Given the description of an element on the screen output the (x, y) to click on. 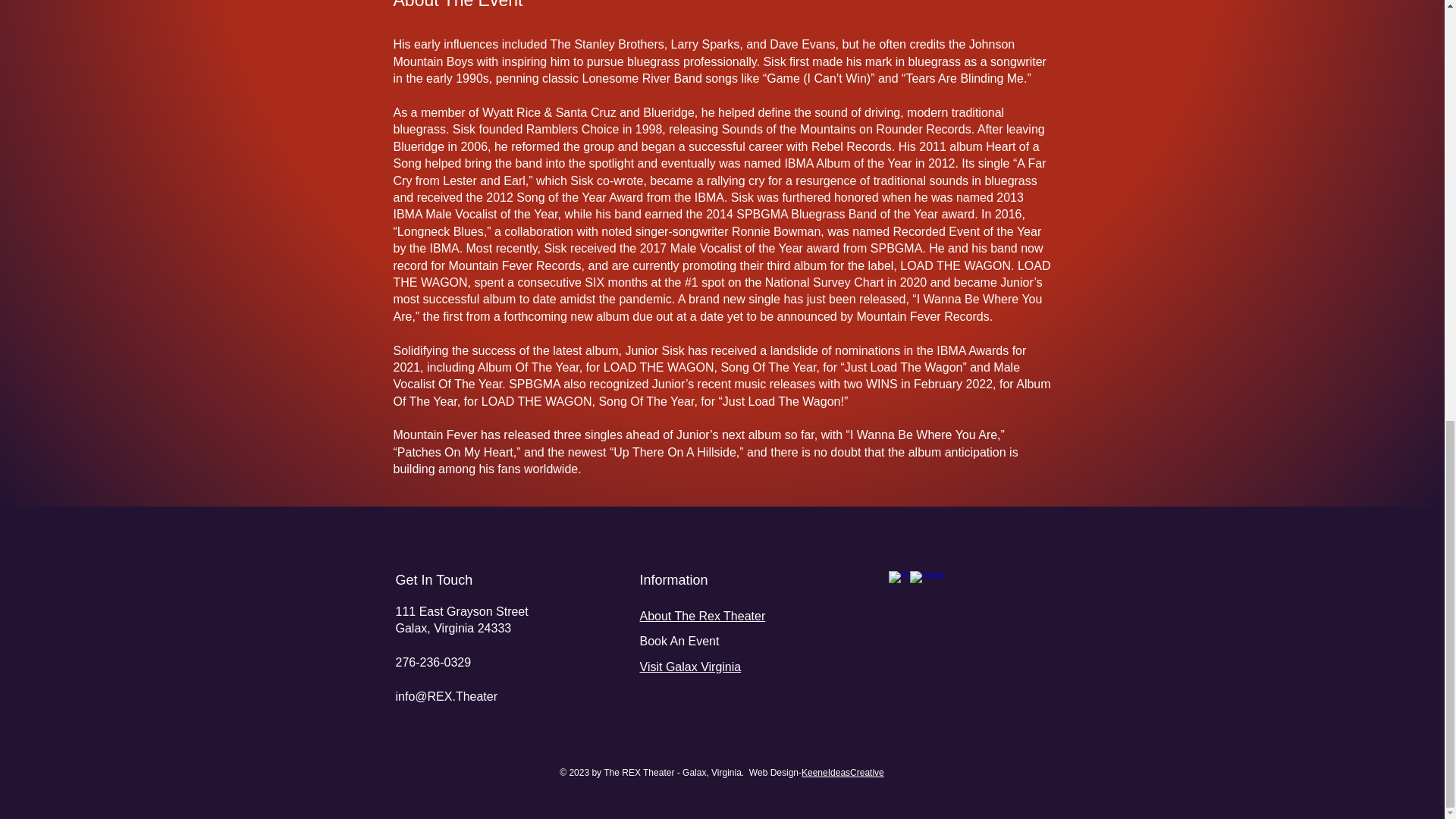
About The Rex Theater (702, 615)
KeeneIdeasCreative (842, 772)
Visit Galax Virginia (690, 666)
